Given the description of an element on the screen output the (x, y) to click on. 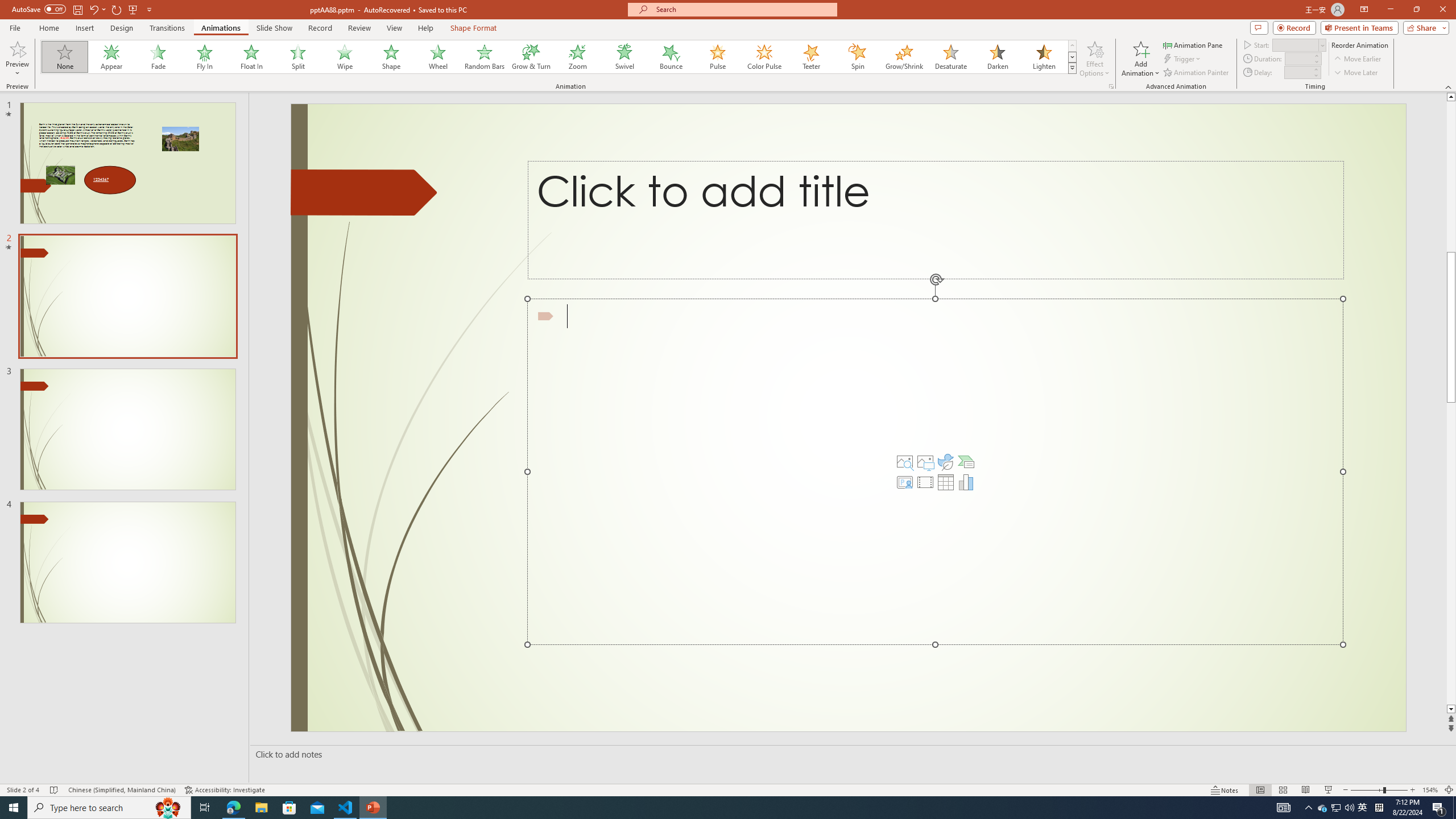
AutomationID: AnimationGallery (558, 56)
Animation Styles (1071, 67)
